Given the description of an element on the screen output the (x, y) to click on. 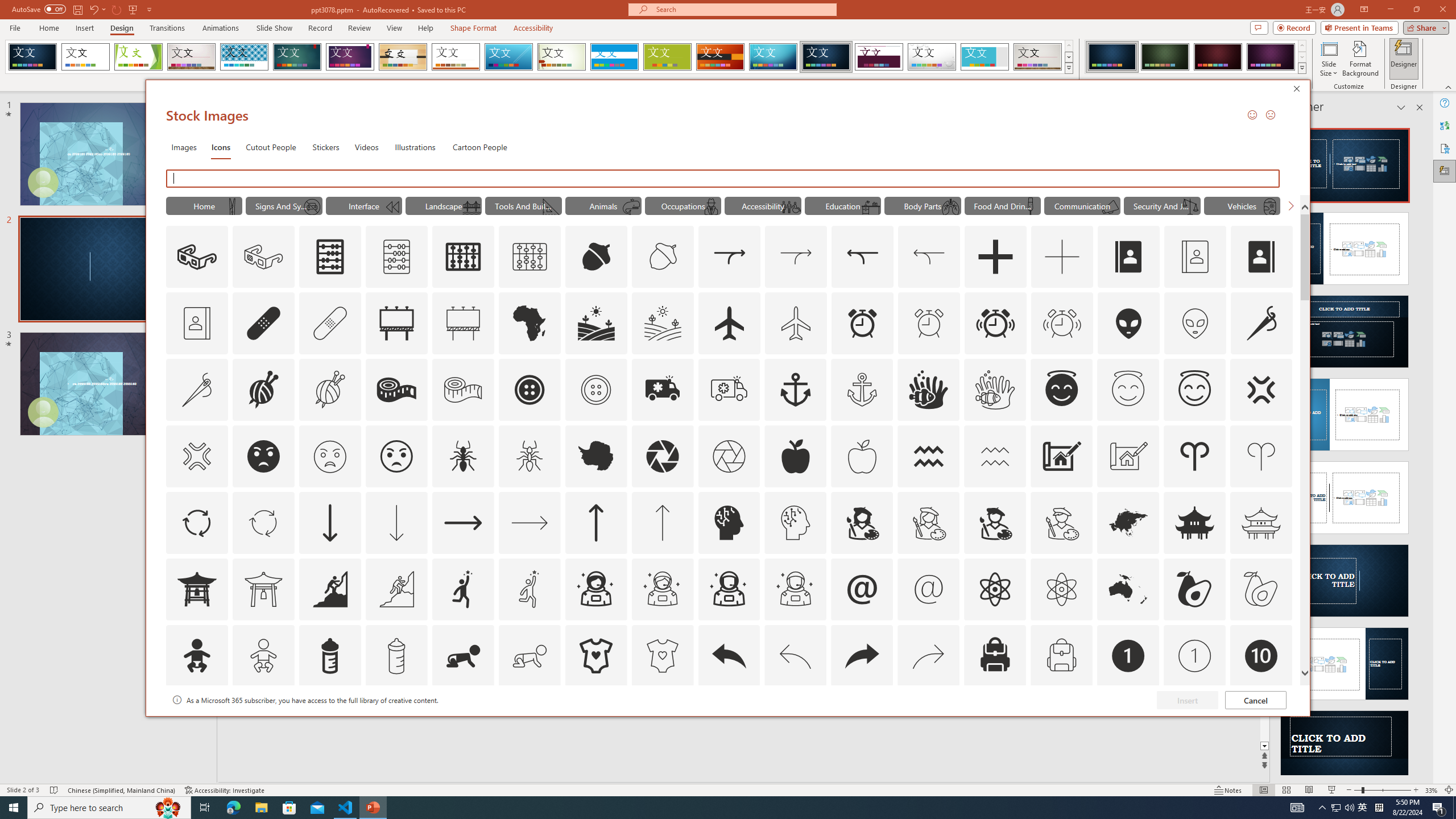
AutomationID: Icons_Africa (529, 323)
"Vehicles" Icons. (1241, 205)
Cutout People (271, 146)
AutomationID: Icons_ArtistMale (995, 522)
AutomationID: Icons_BabyBottle (329, 655)
AutomationID: Icons_At (861, 588)
Slide Size (1328, 58)
AutomationID: Icons_Abacus (330, 256)
